Given the description of an element on the screen output the (x, y) to click on. 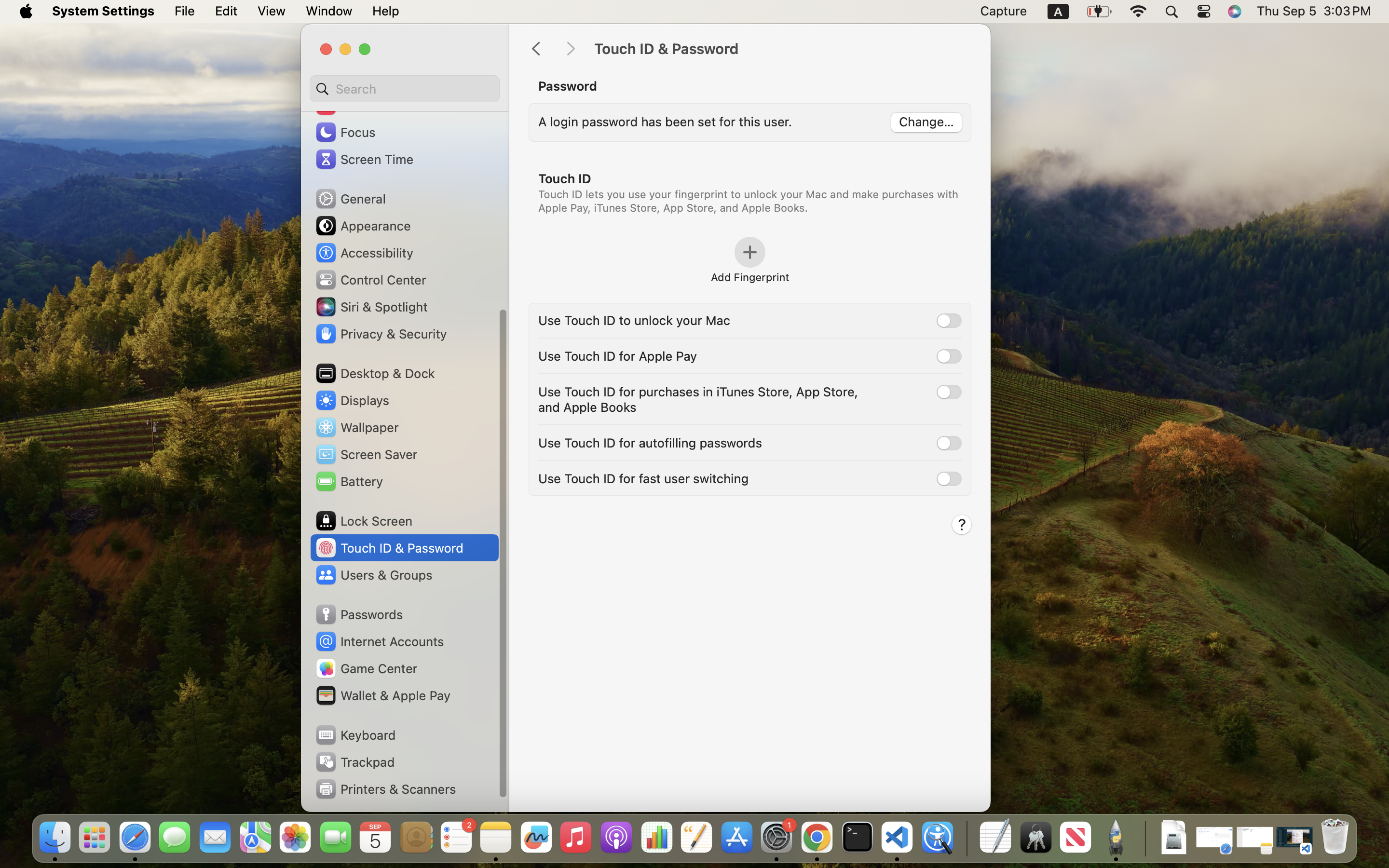
Add Fingerprint Element type: AXStaticText (748, 276)
Wallet & Apple Pay Element type: AXStaticText (382, 694)
Use Touch ID for autofilling passwords Element type: AXStaticText (650, 442)
A login password has been set for this user. Element type: AXStaticText (664, 121)
Game Center Element type: AXStaticText (365, 667)
